Given the description of an element on the screen output the (x, y) to click on. 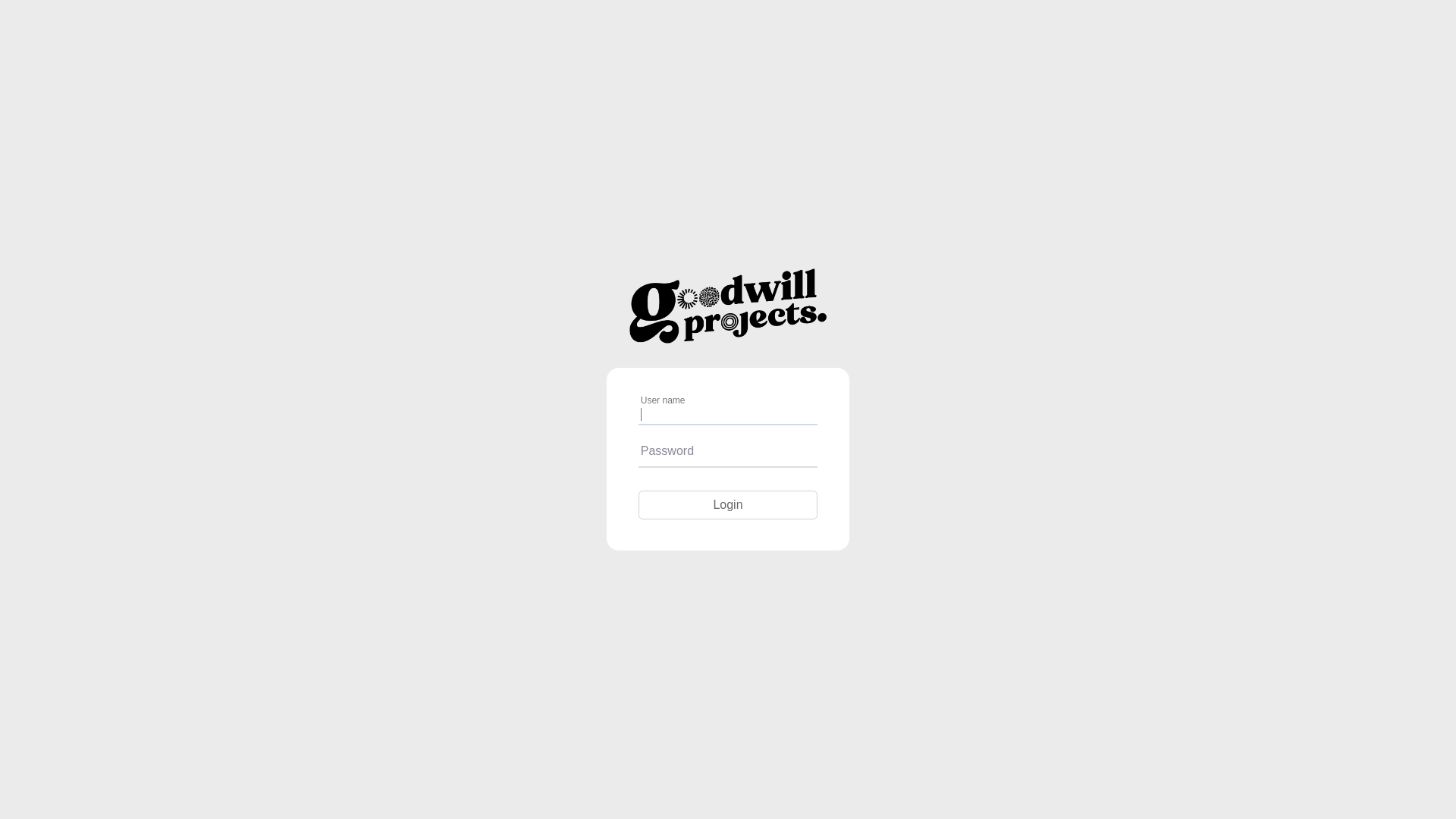
Login Element type: text (728, 504)
